Given the description of an element on the screen output the (x, y) to click on. 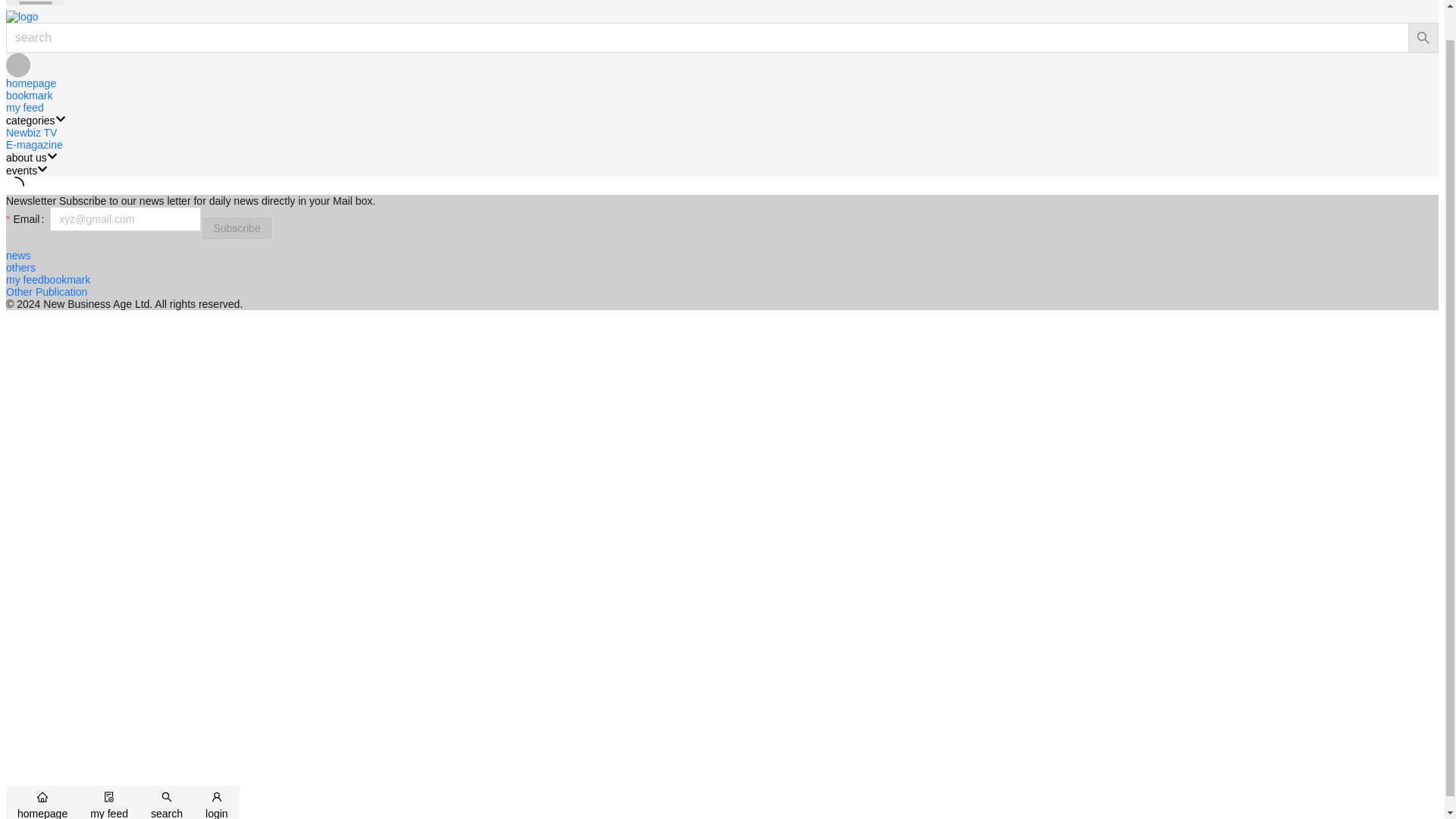
bookmark (28, 95)
homepage (30, 82)
E-magazine (33, 144)
Subscribe (236, 228)
others (19, 267)
news (17, 255)
Other Publication (46, 291)
my feed (24, 107)
bookmark (66, 279)
Newbiz TV (30, 132)
